Given the description of an element on the screen output the (x, y) to click on. 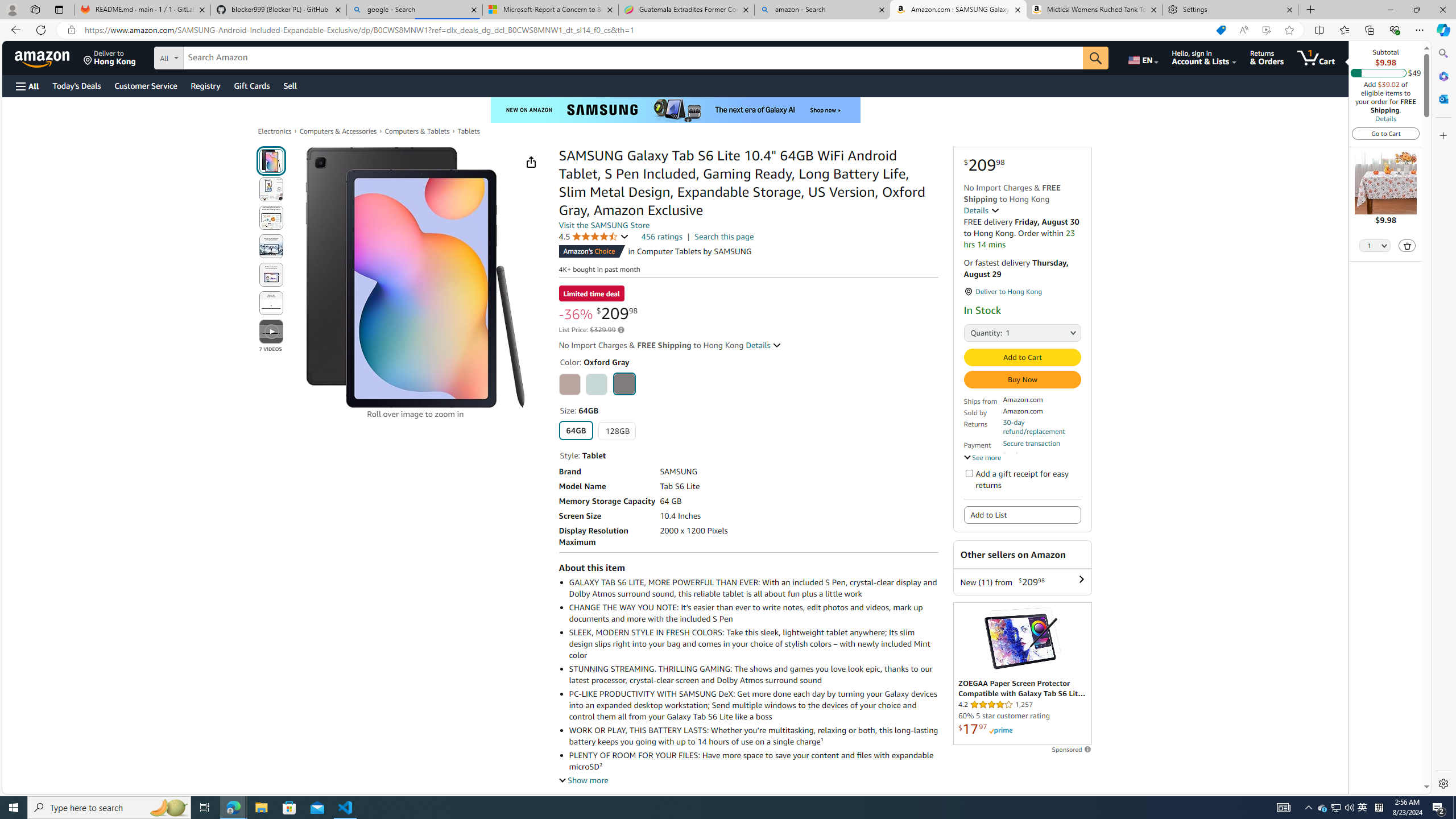
Amazon (43, 57)
Go to Cart (1385, 133)
Sell (290, 85)
Share (530, 161)
Deliver to Hong Kong (109, 57)
128GB (617, 430)
Chiffon Pink (569, 384)
Computers & Tablets (416, 131)
Add to List (1021, 514)
